Given the description of an element on the screen output the (x, y) to click on. 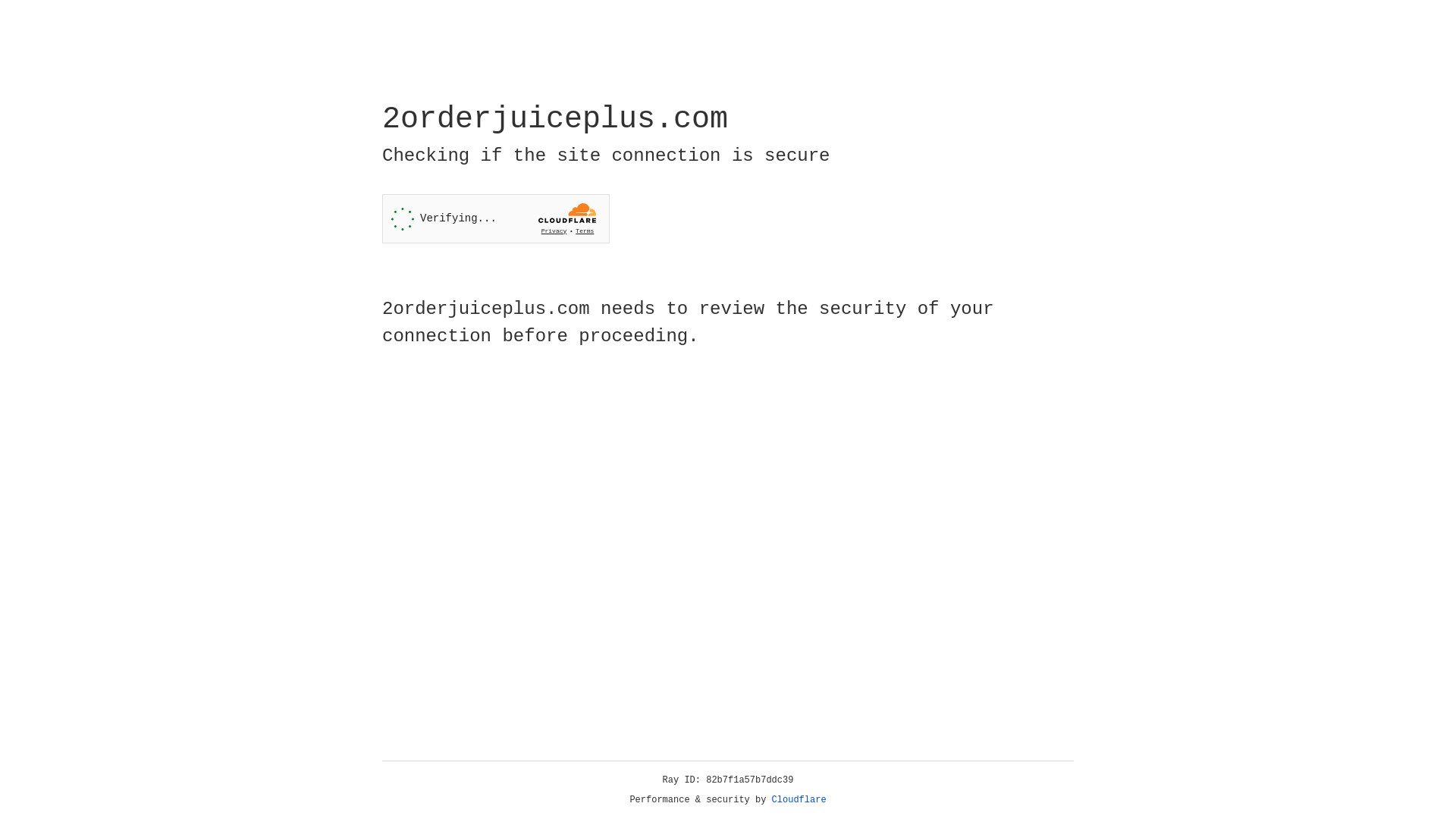
Cloudflare Element type: text (798, 799)
Widget containing a Cloudflare security challenge Element type: hover (495, 218)
